Given the description of an element on the screen output the (x, y) to click on. 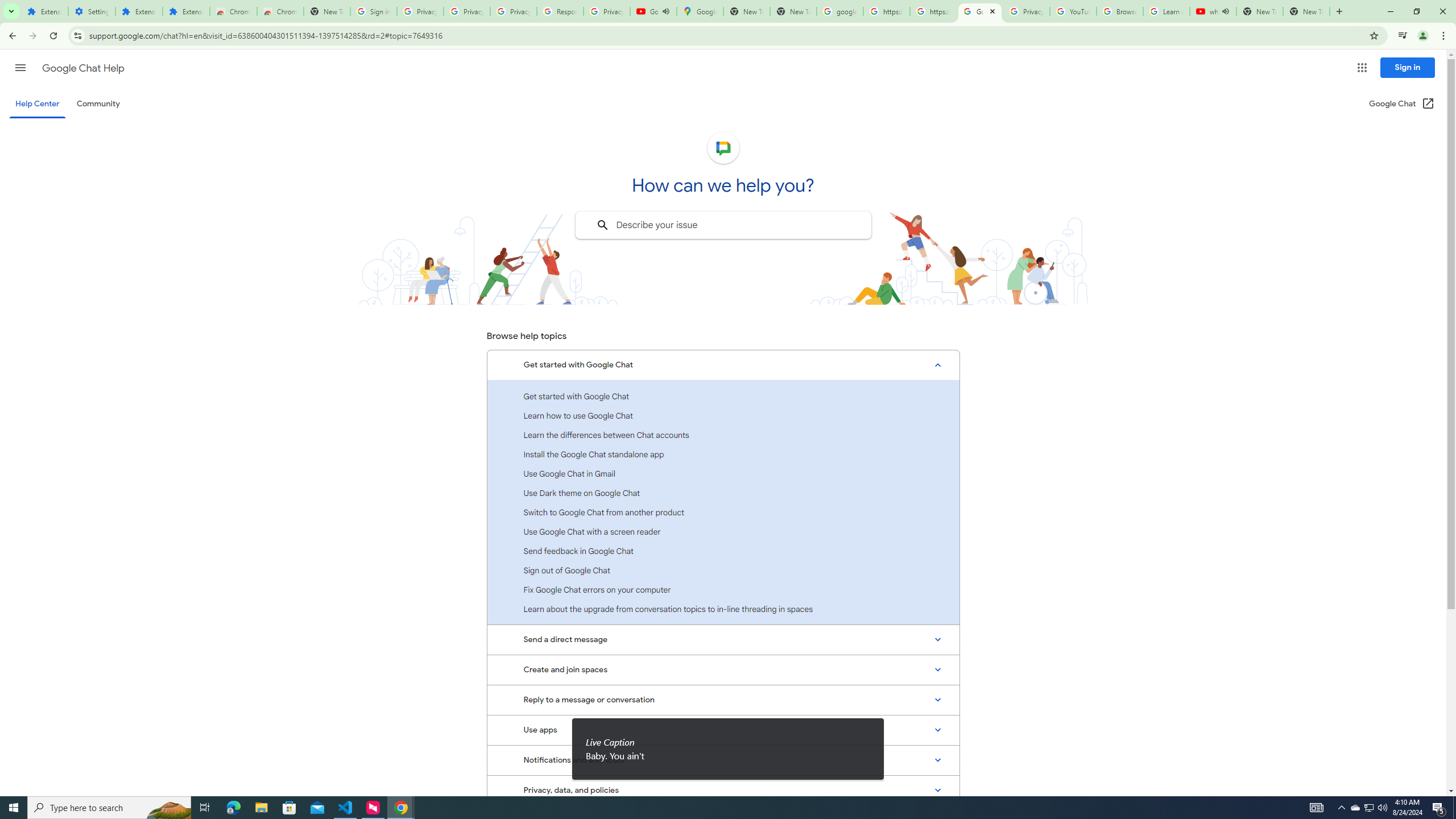
Google Chat (Open in a new window) (1401, 103)
Create and join spaces (722, 669)
Reply to a message or conversation (722, 699)
Browse Chrome as a guest - Computer - Google Chrome Help (1120, 11)
Chrome Web Store - Themes (279, 11)
Send a direct message (722, 639)
Privacy, data, and policies (722, 790)
Install the Google Chat standalone app (722, 454)
